Given the description of an element on the screen output the (x, y) to click on. 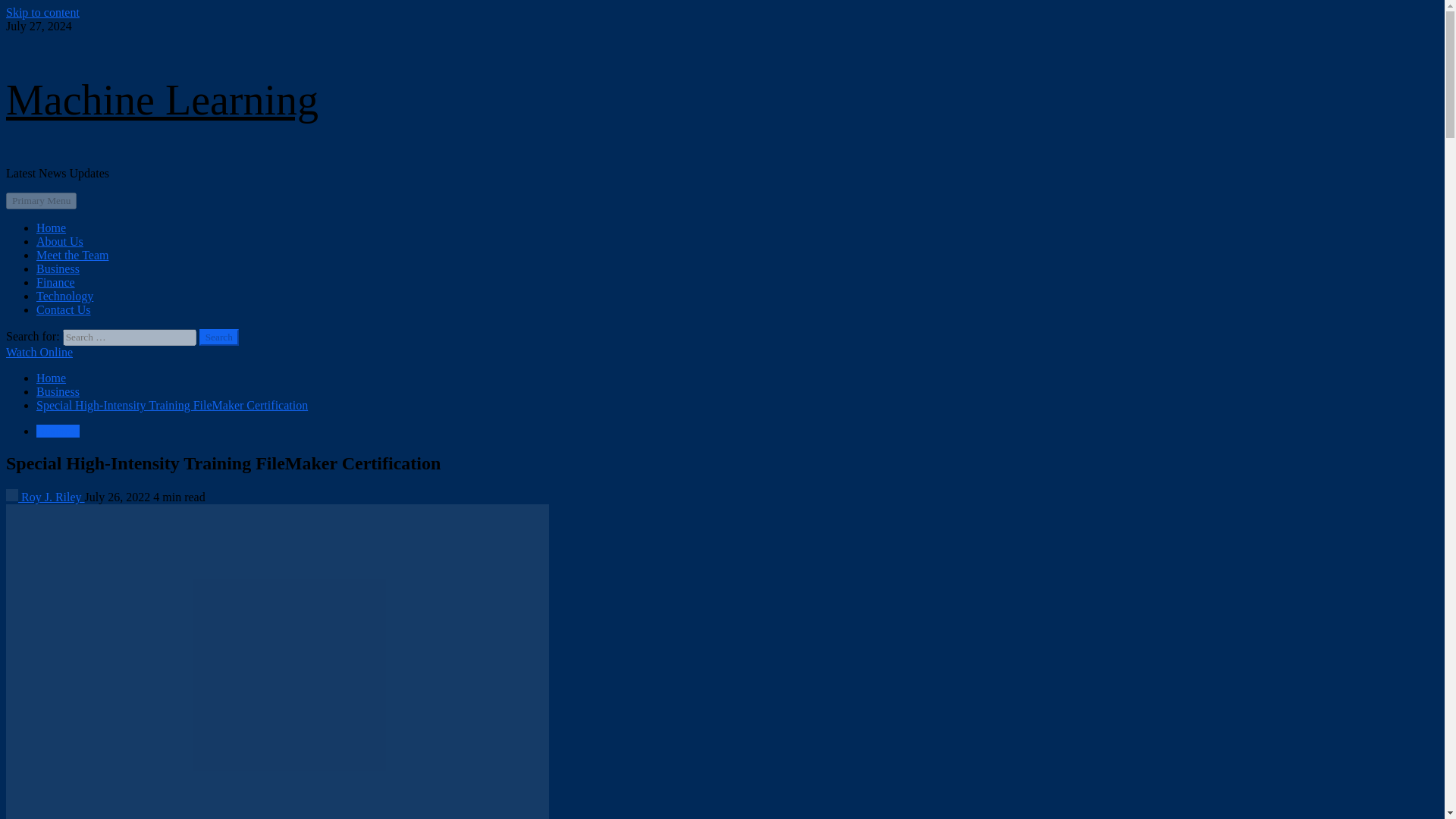
Machine Learning (161, 99)
Roy J. Riley (44, 496)
Special High-Intensity Training FileMaker Certification (171, 404)
Search (218, 337)
Skip to content (42, 11)
Finance (55, 282)
Search (218, 337)
Technology (64, 295)
About Us (59, 241)
Business (58, 391)
Home (50, 227)
Business (58, 431)
Home (50, 377)
Search (218, 337)
Watch Online (38, 351)
